Given the description of an element on the screen output the (x, y) to click on. 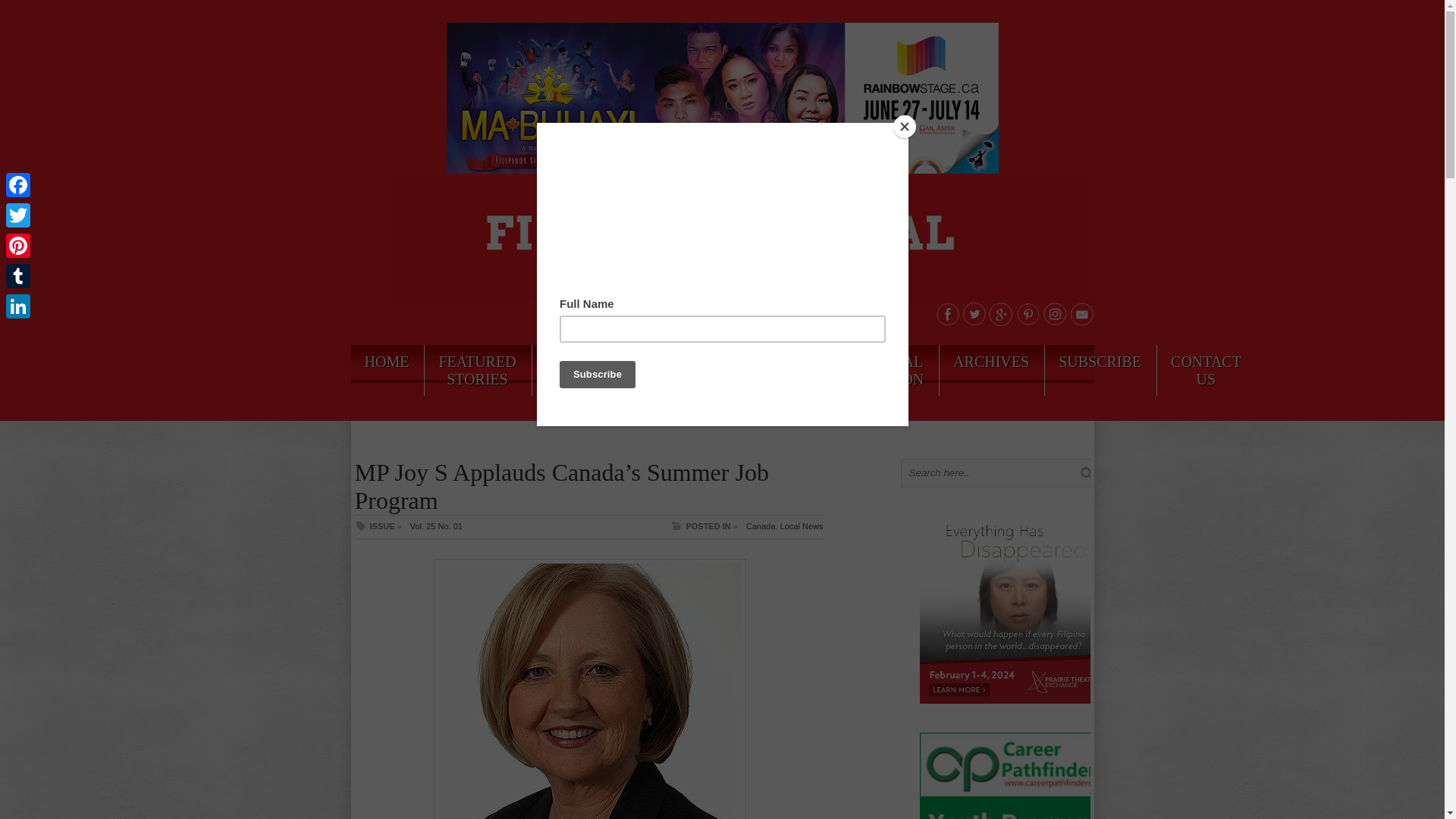
Vol. 25 No. 01 (436, 525)
CONTACT US (1205, 369)
MP Joy Smith (589, 688)
ARCHIVES (990, 361)
FEATURED STORIES (477, 369)
Canada (760, 525)
DIGITAL EDITION (892, 369)
Search here.. (993, 472)
LOCAL NEWS (571, 369)
SUBSCRIBE (1099, 361)
PHILIPPINE NEWS (665, 369)
HOME (386, 361)
COLUMNISTS (783, 361)
Local News (802, 525)
